Given the description of an element on the screen output the (x, y) to click on. 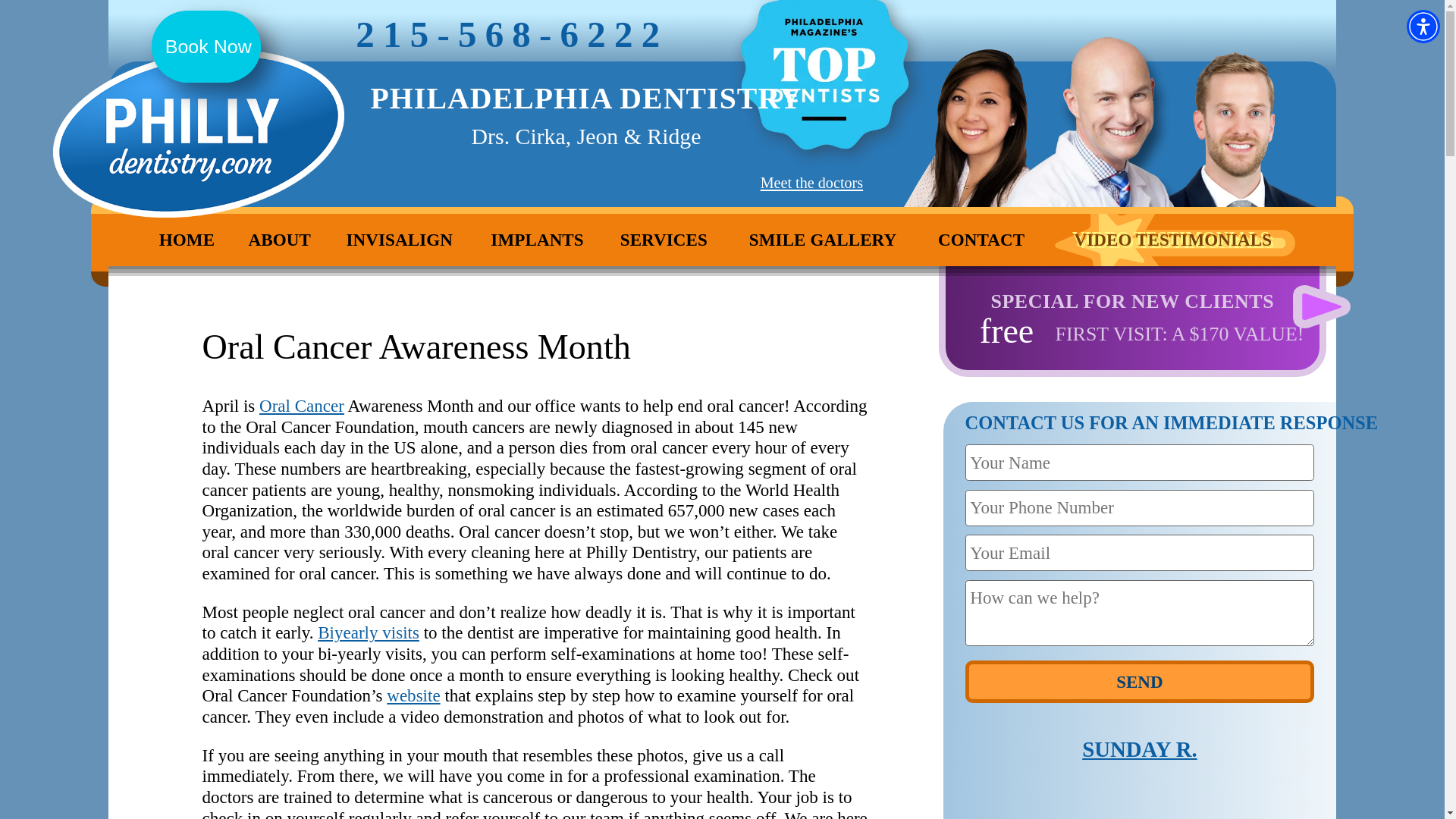
Meet the doctors (811, 182)
Send (1139, 681)
Accessibility Menu (1422, 26)
Video Testimonial from Sunday R. (1138, 797)
